Given the description of an element on the screen output the (x, y) to click on. 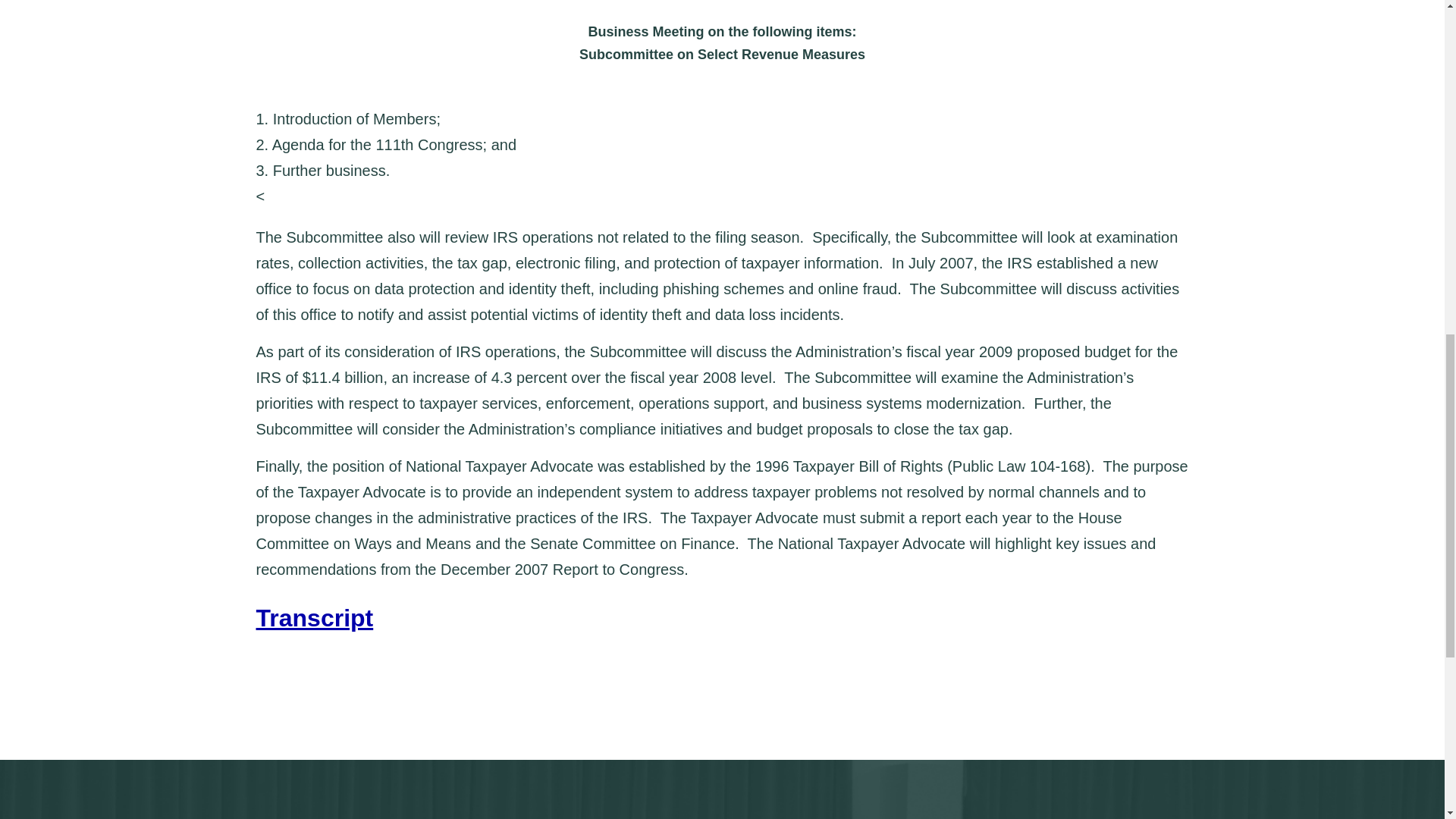
Transcript (315, 617)
